Given the description of an element on the screen output the (x, y) to click on. 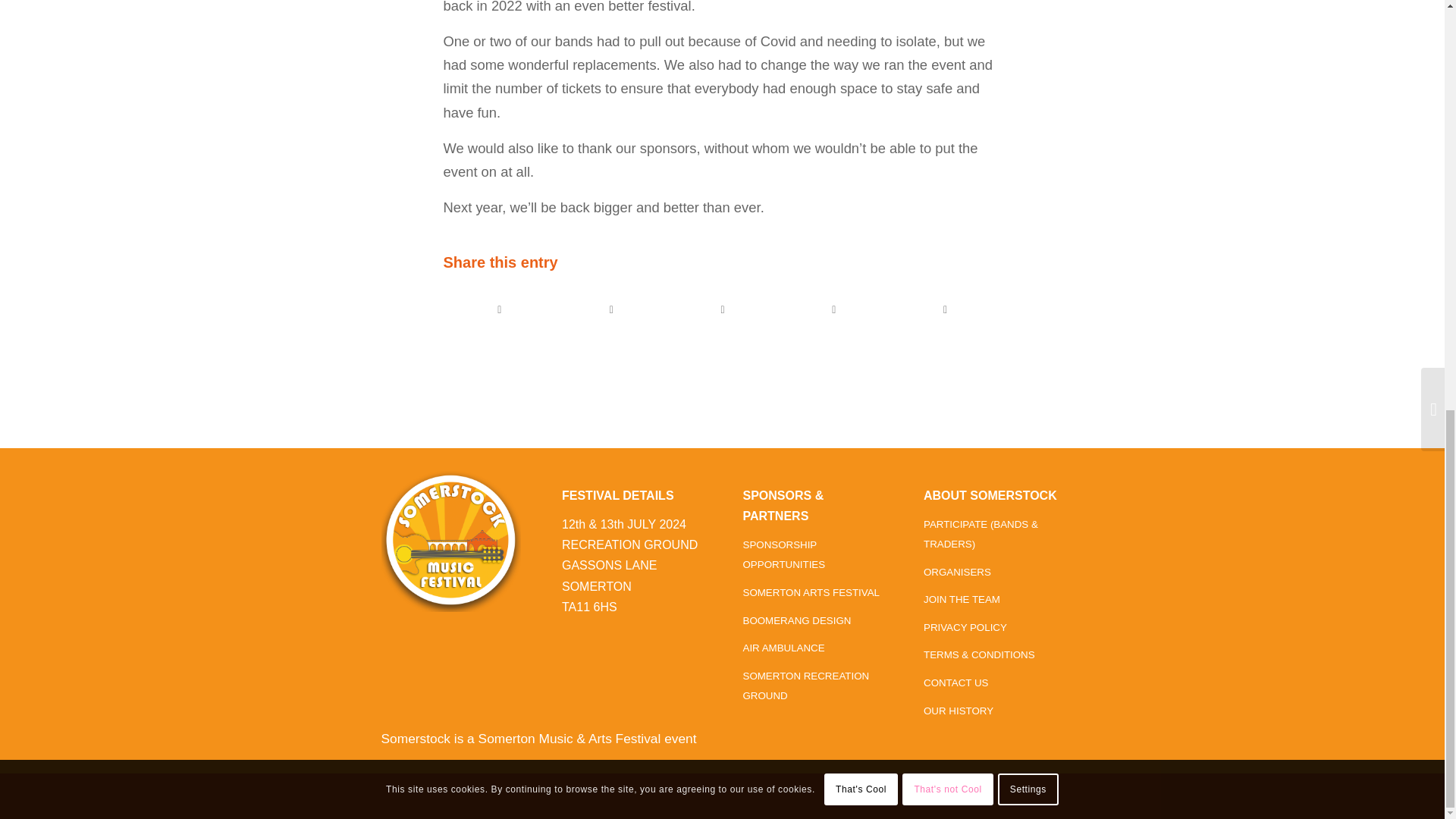
AIR AMBULANCE (783, 647)
SPONSORSHIP OPPORTUNITIES (783, 554)
JOIN THE TEAM (961, 599)
SOMERTON ARTS FESTIVAL (810, 592)
ORGANISERS (957, 572)
OUR HISTORY (957, 710)
CONTACT US (955, 683)
BOOMERANG DESIGN (796, 620)
PRIVACY POLICY (965, 627)
